Given the description of an element on the screen output the (x, y) to click on. 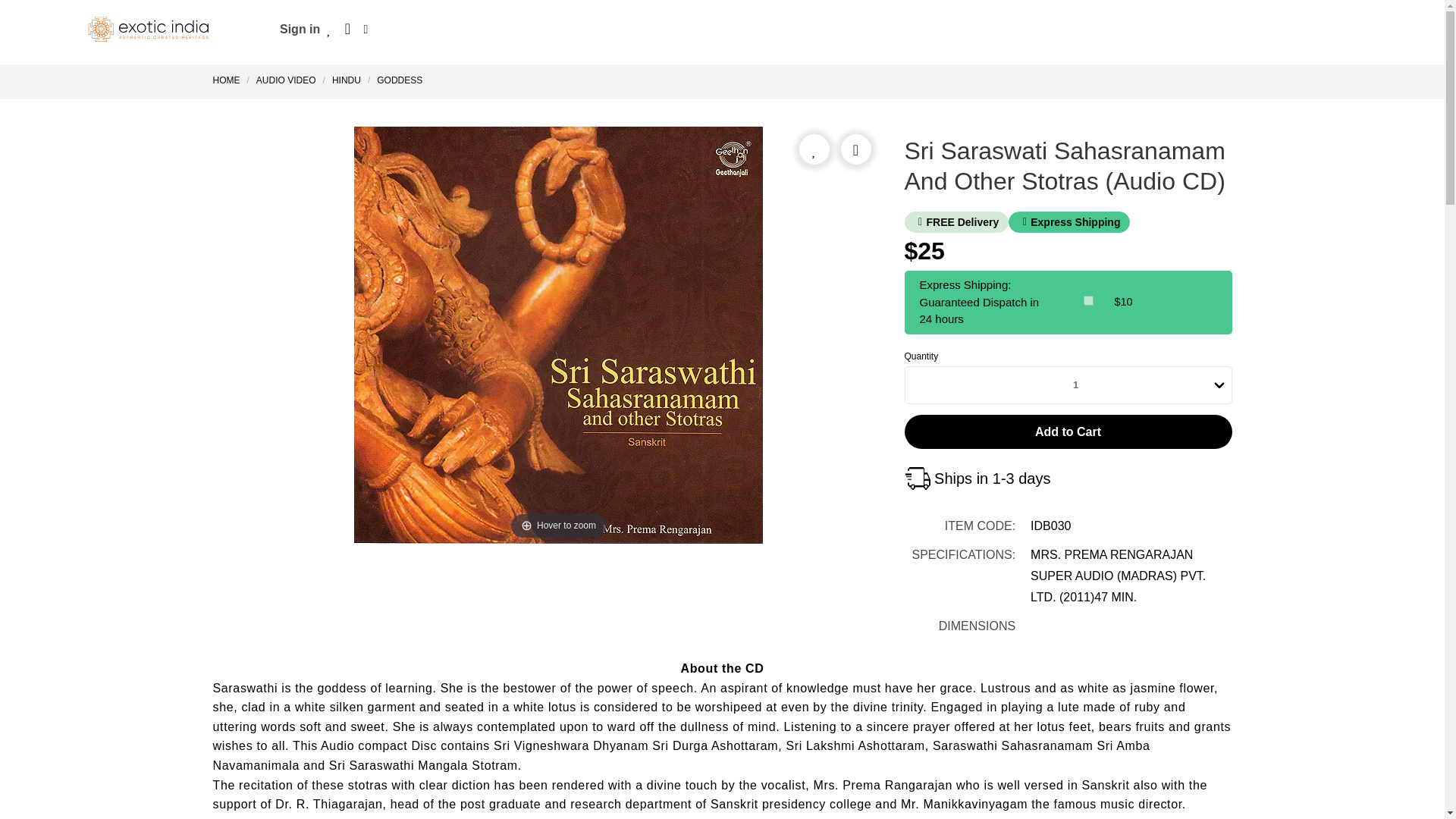
Audio Video (285, 79)
Sign in (299, 29)
HINDU (346, 79)
Wishlist (328, 29)
Goddess (399, 79)
GODDESS (399, 79)
Save to Wishlist (814, 149)
Hindu (346, 79)
AUDIO VIDEO (285, 79)
Home (229, 79)
HOME (229, 79)
Sign in (299, 29)
Add to Cart (1067, 431)
